Given the description of an element on the screen output the (x, y) to click on. 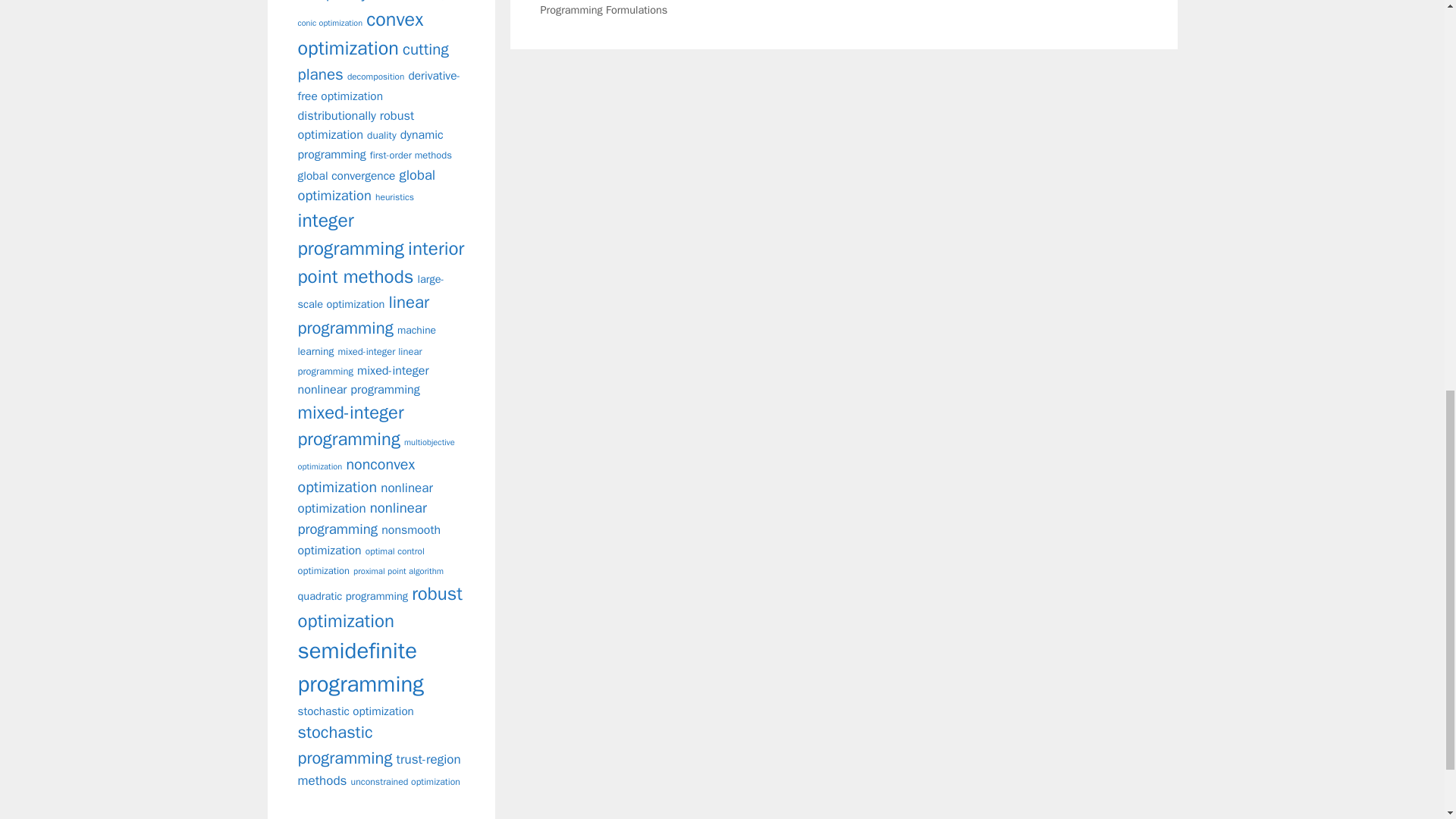
Next (832, 8)
complexity (331, 1)
compressed sensing (407, 0)
